Given the description of an element on the screen output the (x, y) to click on. 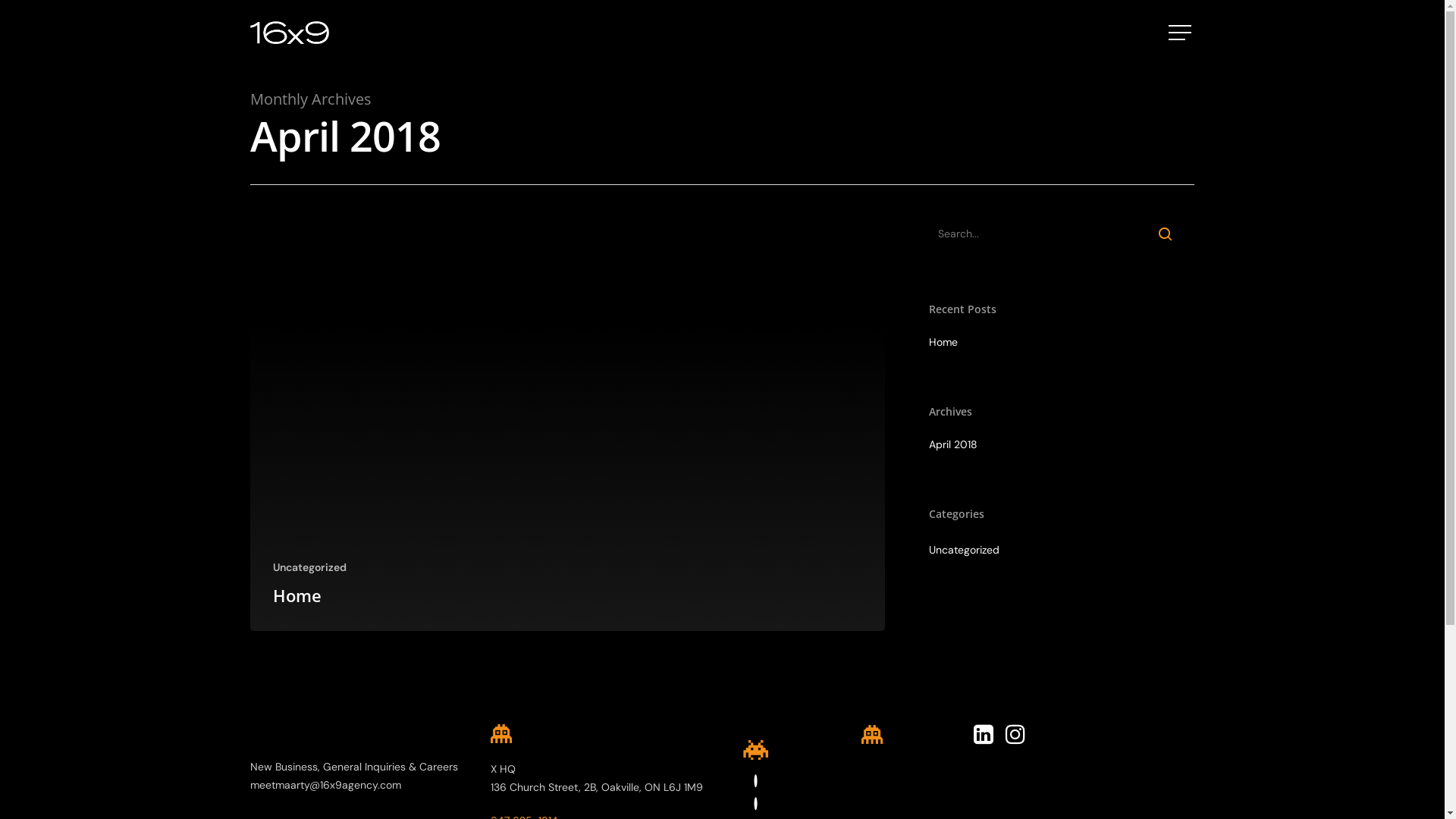
April 2018 Element type: text (1058, 444)
Uncategorized Element type: text (1058, 549)
Home Element type: text (297, 594)
meetmaarty@16x9agency.com Element type: text (325, 784)
Home Element type: text (1058, 341)
Uncategorized Element type: text (309, 567)
Search for: Element type: hover (1058, 233)
